Given the description of an element on the screen output the (x, y) to click on. 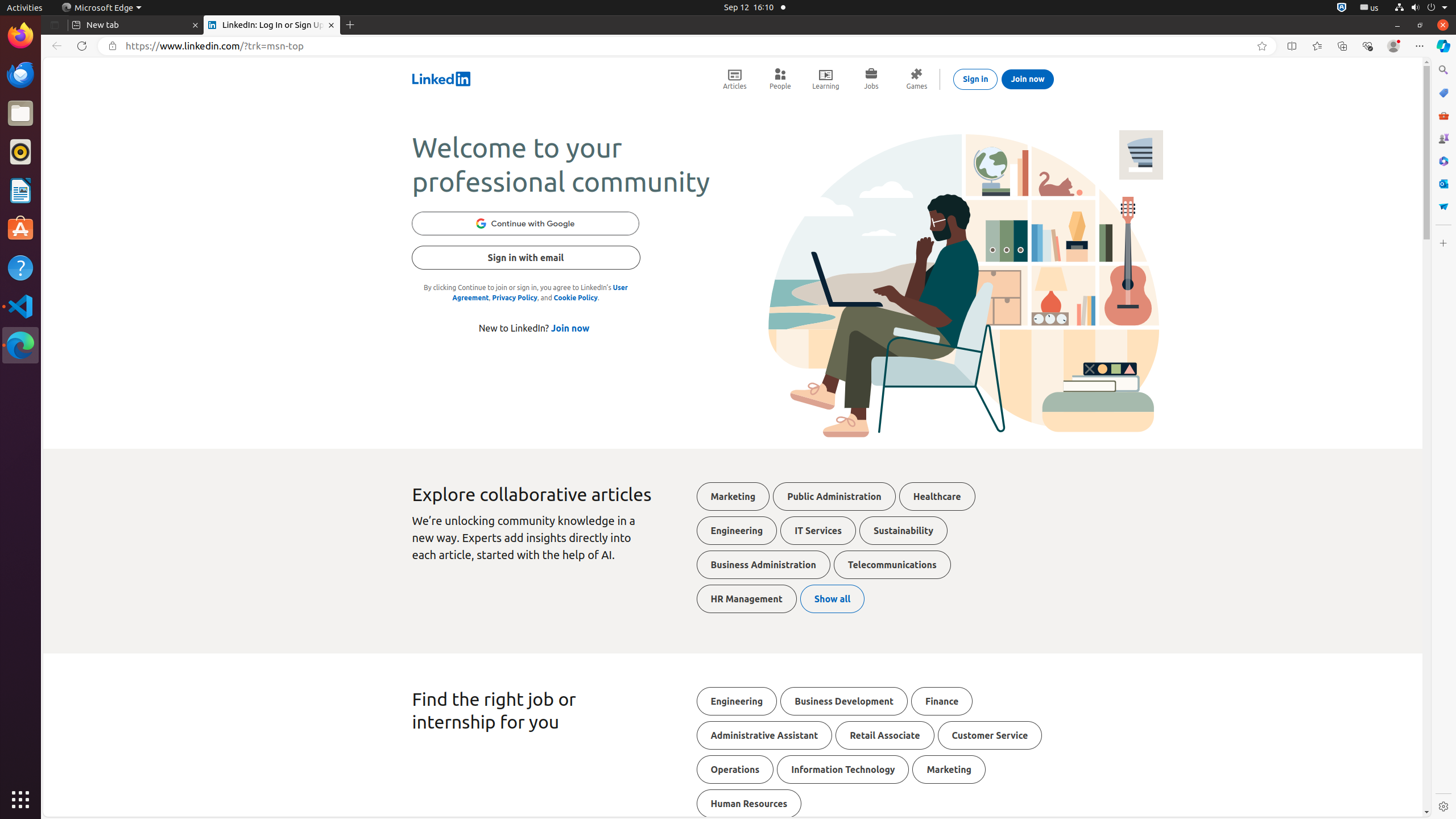
Healthcare Element type: link (936, 496)
:1.72/StatusNotifierItem Element type: menu (1341, 7)
Learning Element type: link (825, 78)
LinkedIn: Log In or Sign Up Element type: page-tab (271, 25)
Human Resources Element type: link (748, 803)
